Given the description of an element on the screen output the (x, y) to click on. 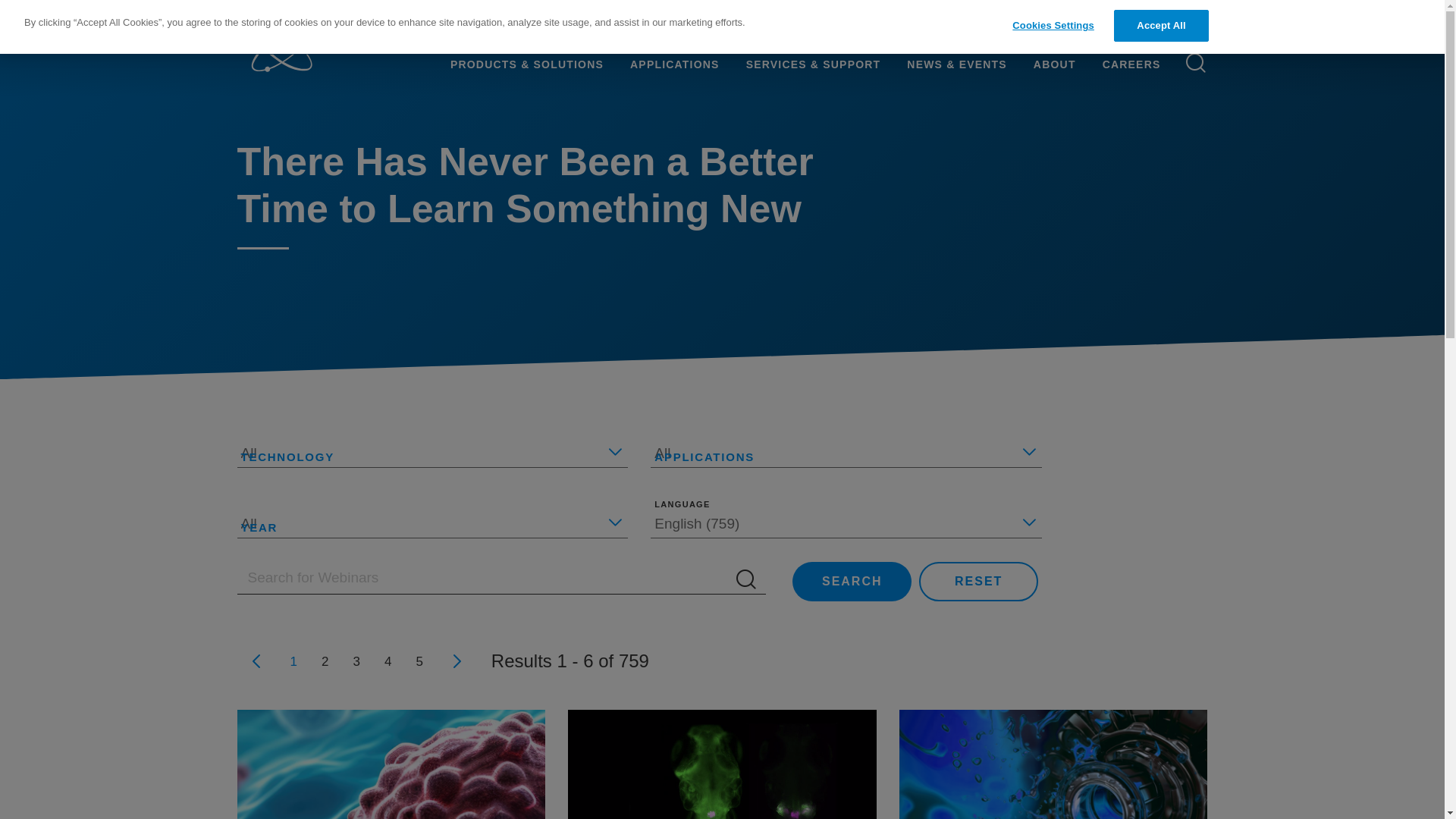
MY BRUKER (1036, 26)
SEARCH (851, 581)
CONTACT EXPERT (1151, 27)
ABOUT (1054, 64)
Login (1036, 26)
RESET (978, 581)
CONTACT EXPERT (1153, 26)
CAREERS (1141, 64)
APPLICATIONS (674, 64)
